Given the description of an element on the screen output the (x, y) to click on. 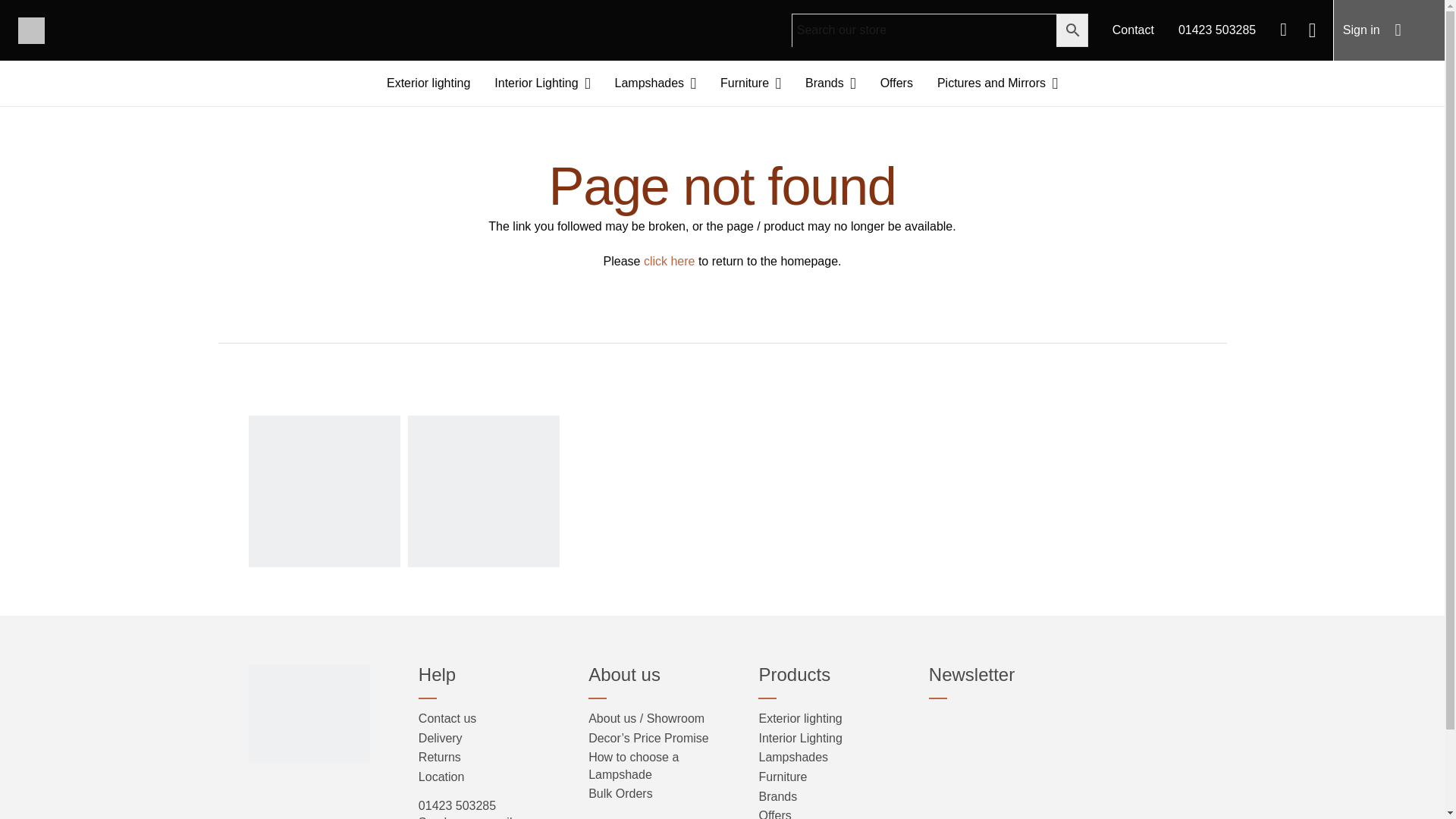
Lampshades (654, 83)
Sign in (1361, 30)
Exterior lighting (427, 83)
Contact (1133, 29)
Interior Lighting (541, 83)
01423 503285 (1216, 29)
